Given the description of an element on the screen output the (x, y) to click on. 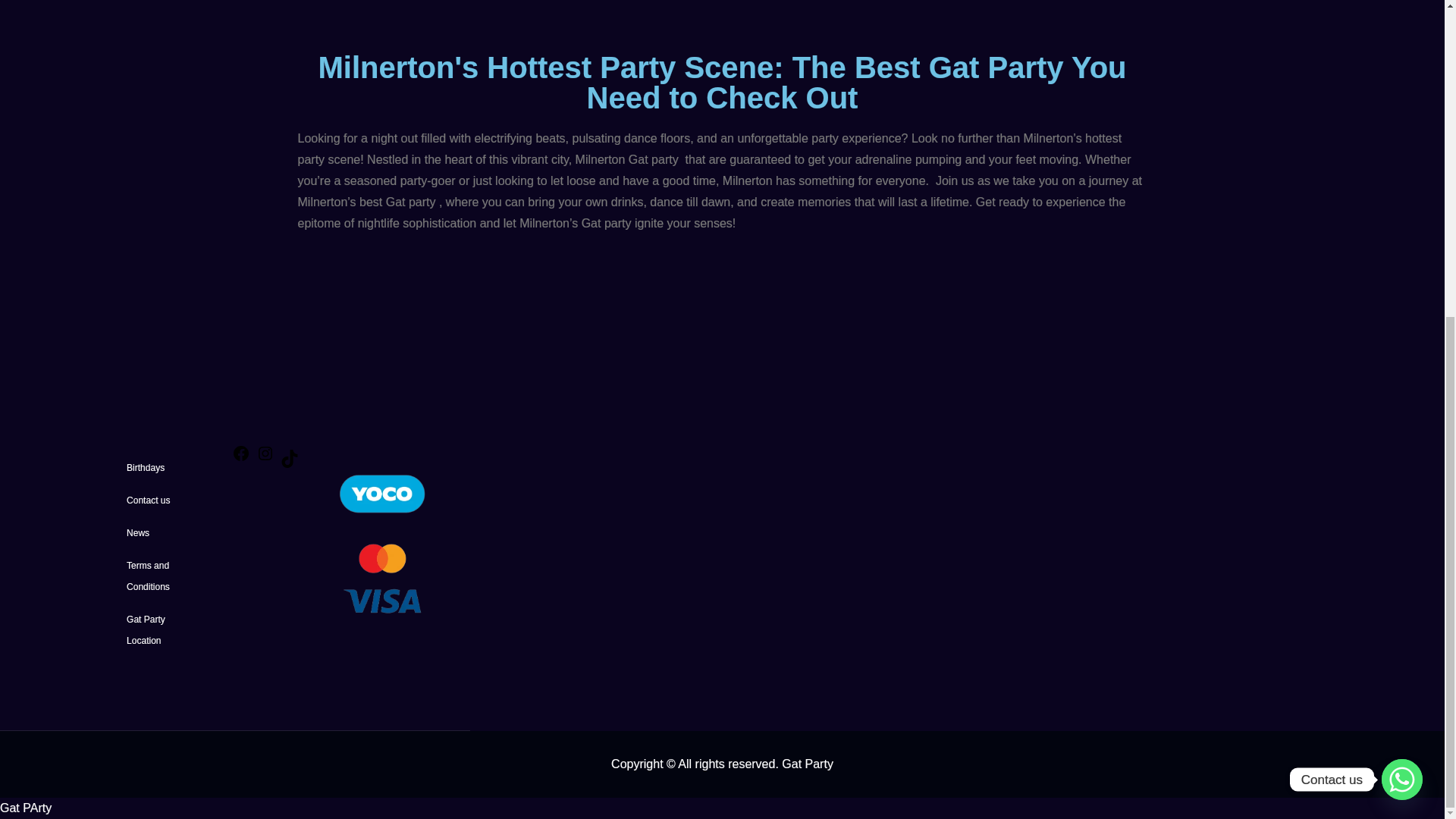
Contact us (148, 500)
News (137, 532)
Birthdays (145, 467)
Terms and Conditions (148, 576)
